Given the description of an element on the screen output the (x, y) to click on. 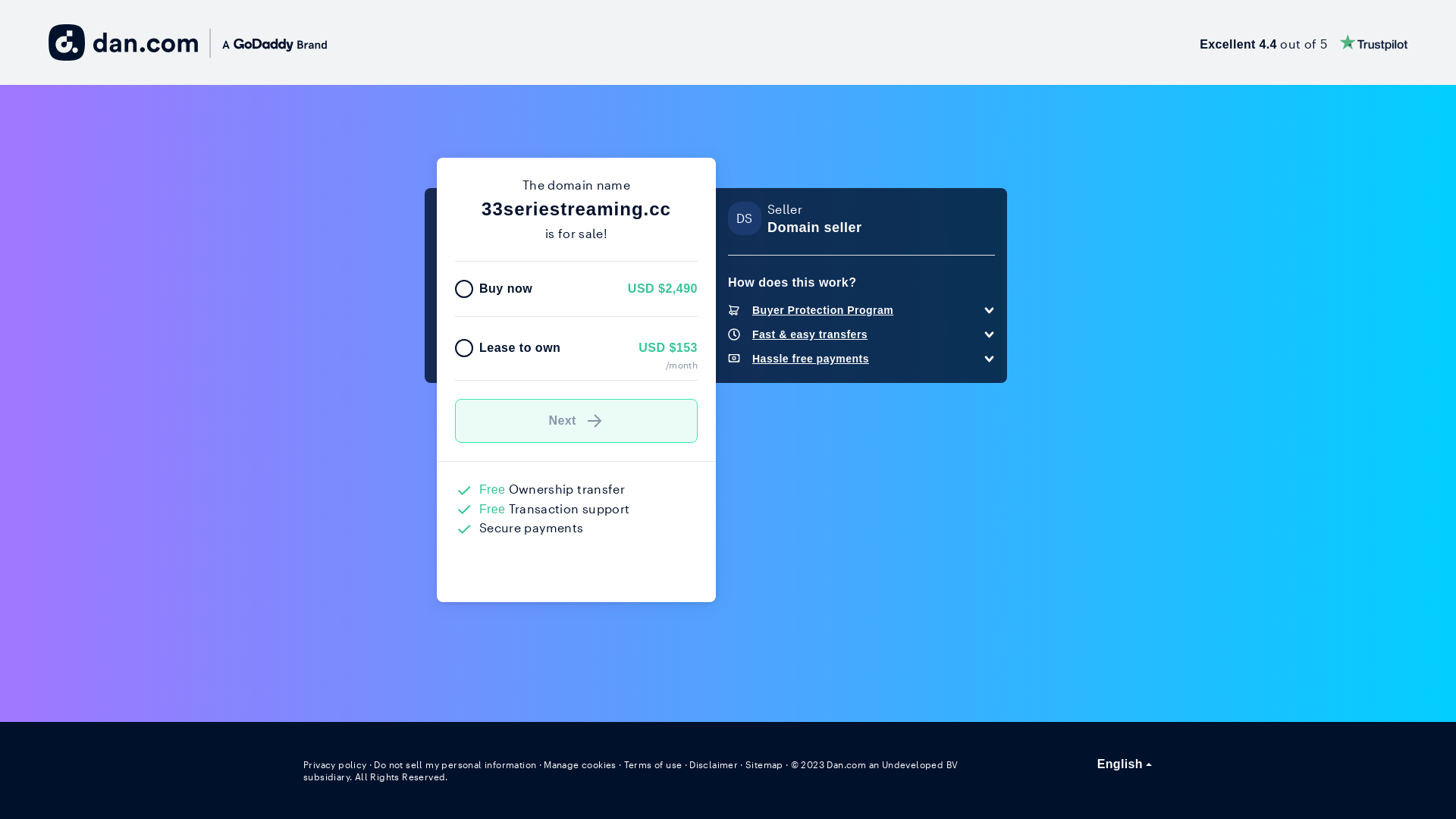
Disclaimer Element type: text (713, 764)
Privacy policy Element type: text (335, 764)
Sitemap Element type: text (764, 764)
Excellent 4.4 out of 5 Element type: text (1303, 42)
Manage cookies Element type: text (579, 764)
Do not sell my personal information Element type: text (454, 764)
Terms of use Element type: text (653, 764)
English Element type: text (1124, 764)
Next
) Element type: text (576, 420)
